Given the description of an element on the screen output the (x, y) to click on. 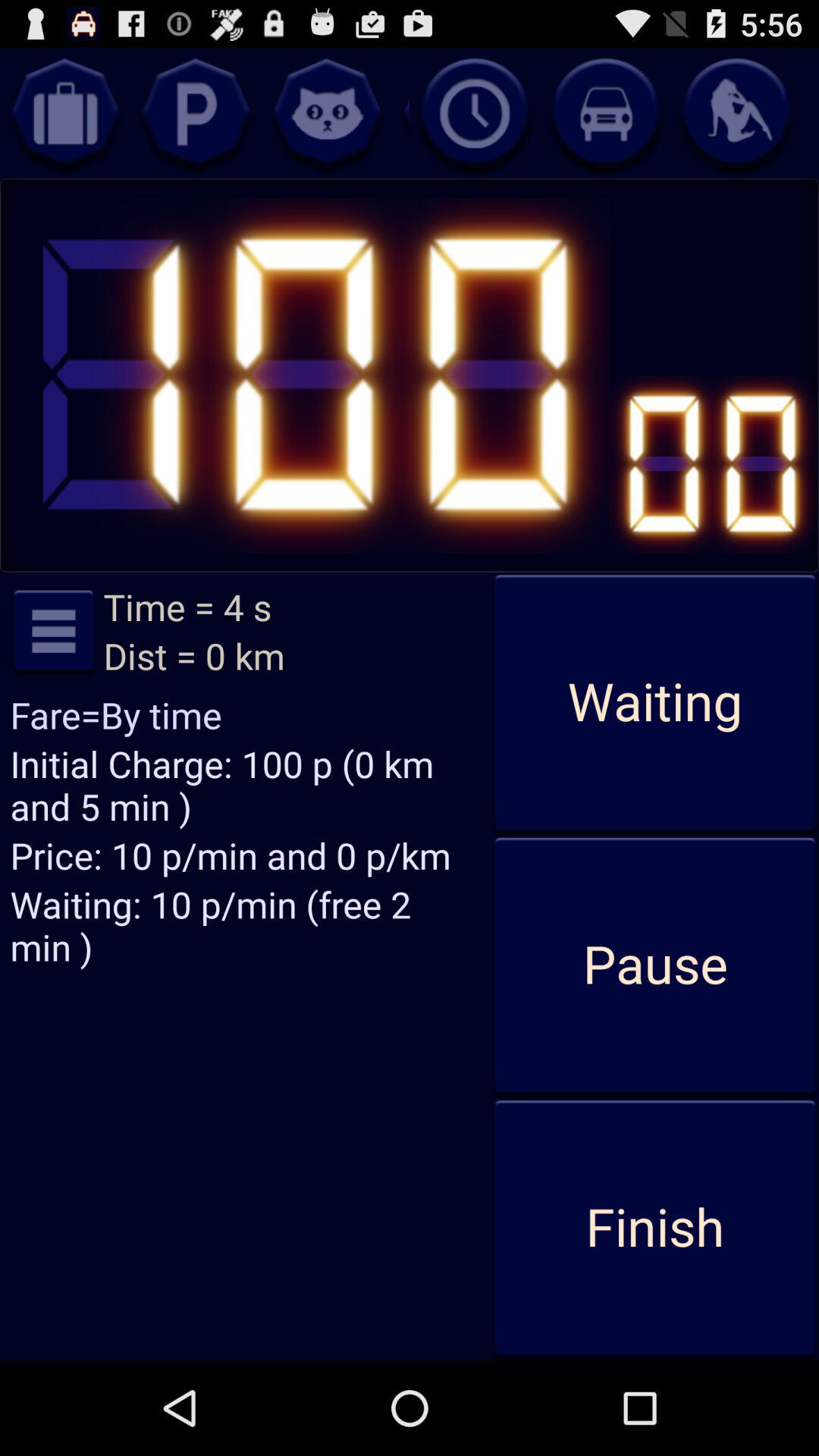
p (195, 112)
